Given the description of an element on the screen output the (x, y) to click on. 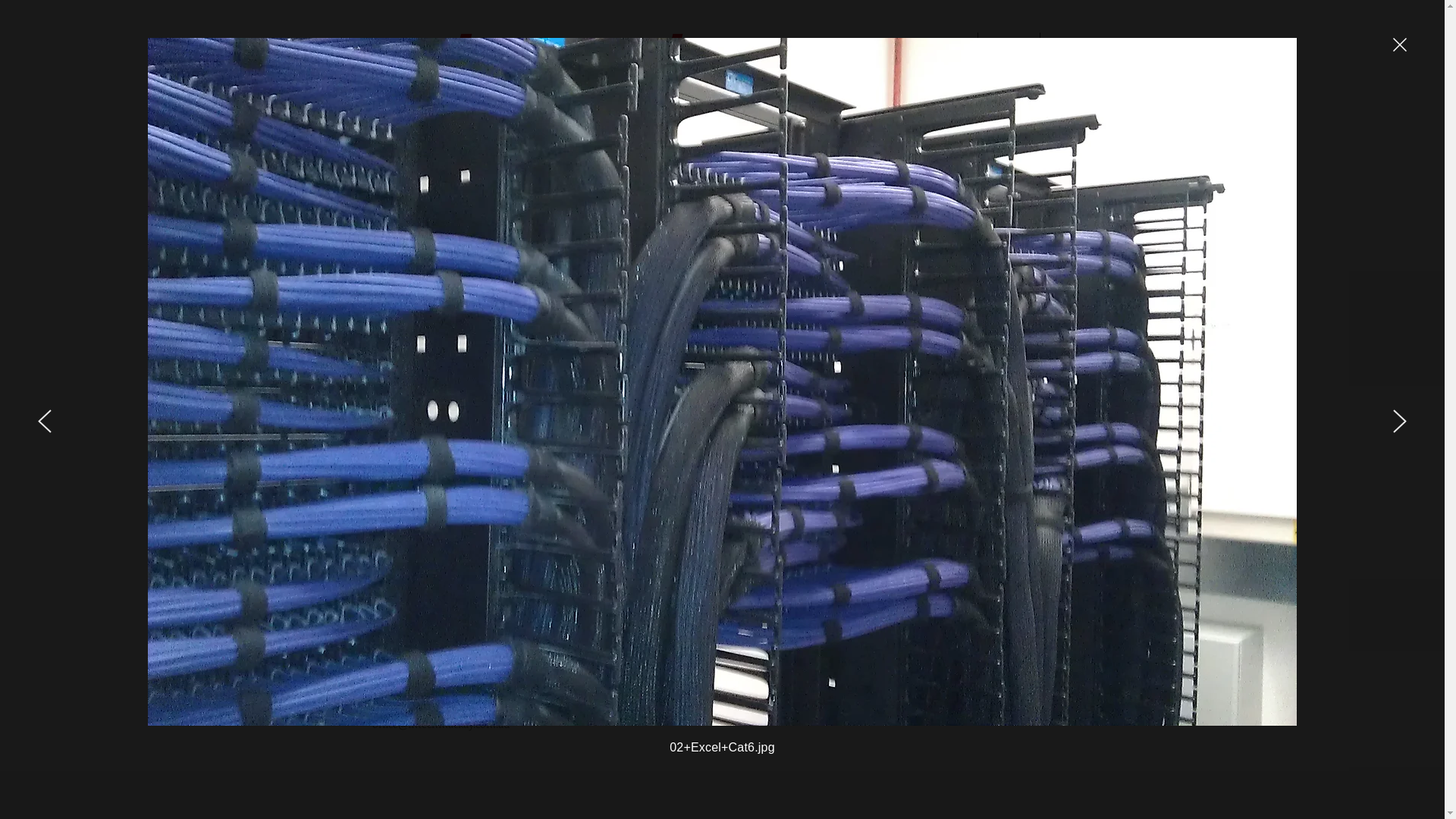
Services Element type: text (1008, 46)
Home Element type: text (950, 46)
office@intechmackay.com.au Element type: text (439, 722)
About Element type: text (1066, 46)
